Given the description of an element on the screen output the (x, y) to click on. 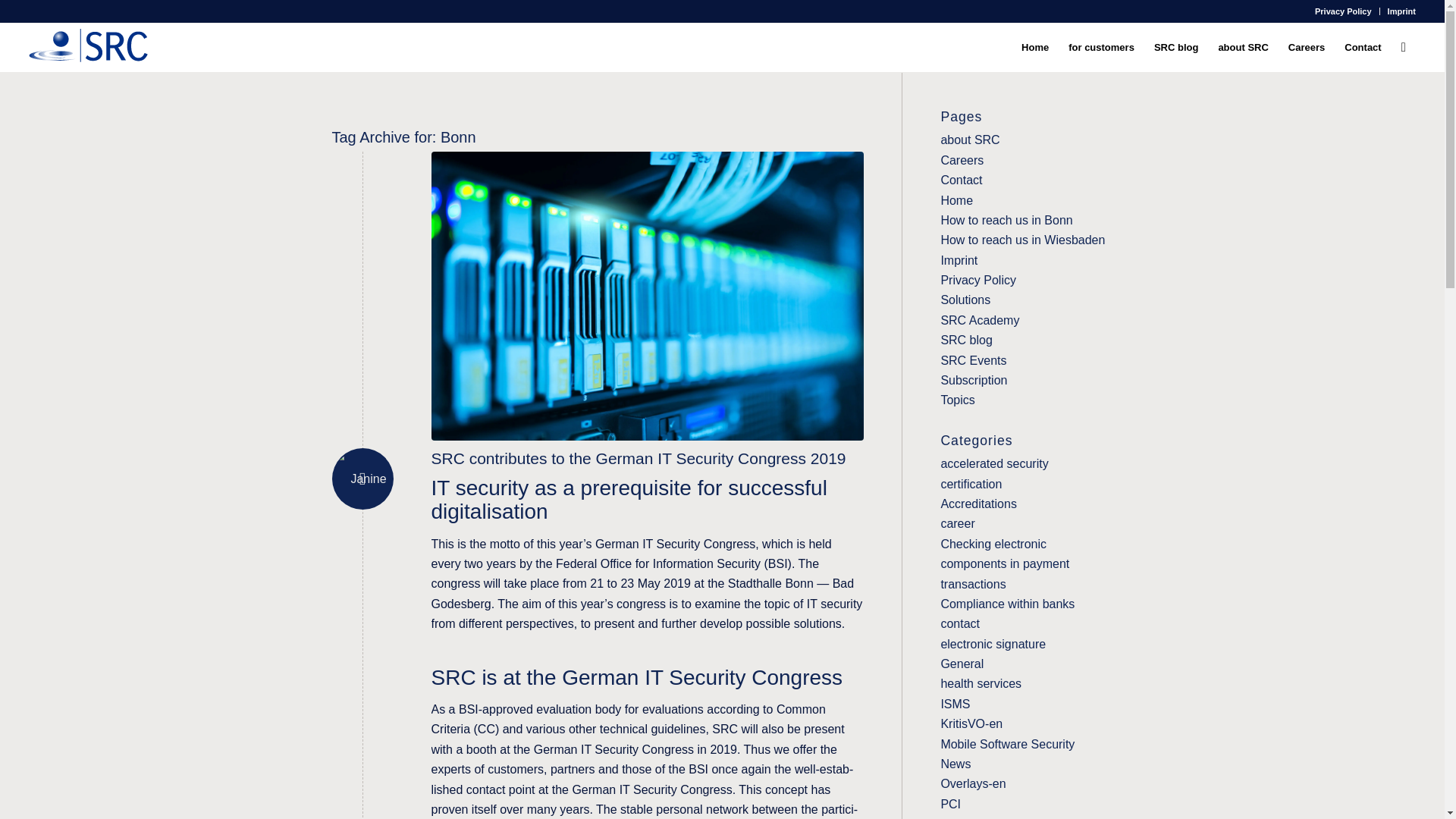
How to reach us in Wiesbaden (1022, 239)
Careers (1306, 47)
Topics (957, 399)
Checking electronic components in payment transactions (1004, 563)
Contact (1362, 47)
SRC-Logo (88, 47)
SRC Academy (979, 319)
accelerated security certification (994, 473)
Home (956, 200)
Imprint (958, 259)
Imprint (1401, 11)
Accreditations (978, 503)
Contact (960, 179)
Careers (962, 160)
